Given the description of an element on the screen output the (x, y) to click on. 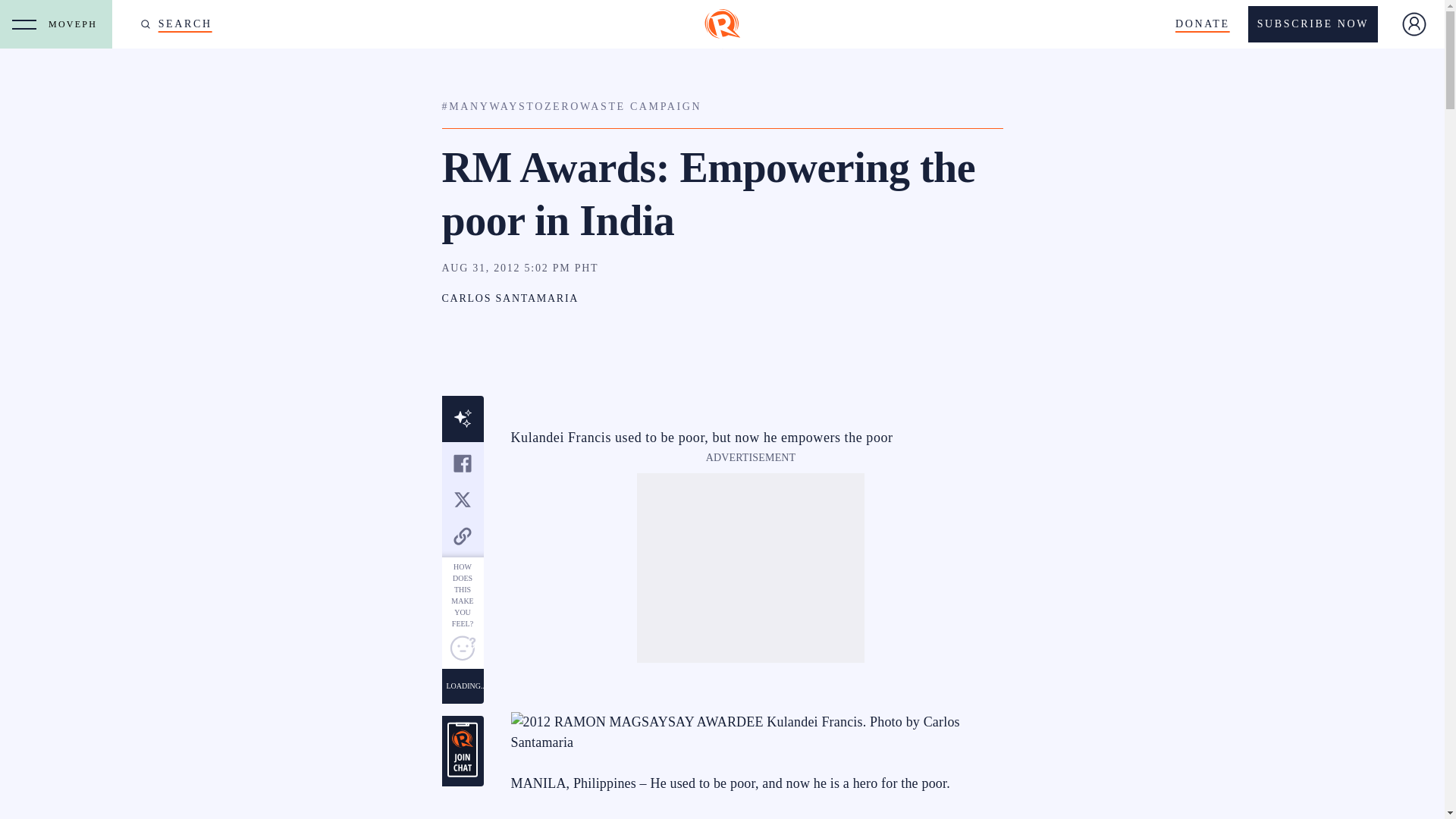
MOVEPH (76, 23)
OPEN NAVIGATION (24, 24)
kulandei (751, 731)
